Given the description of an element on the screen output the (x, y) to click on. 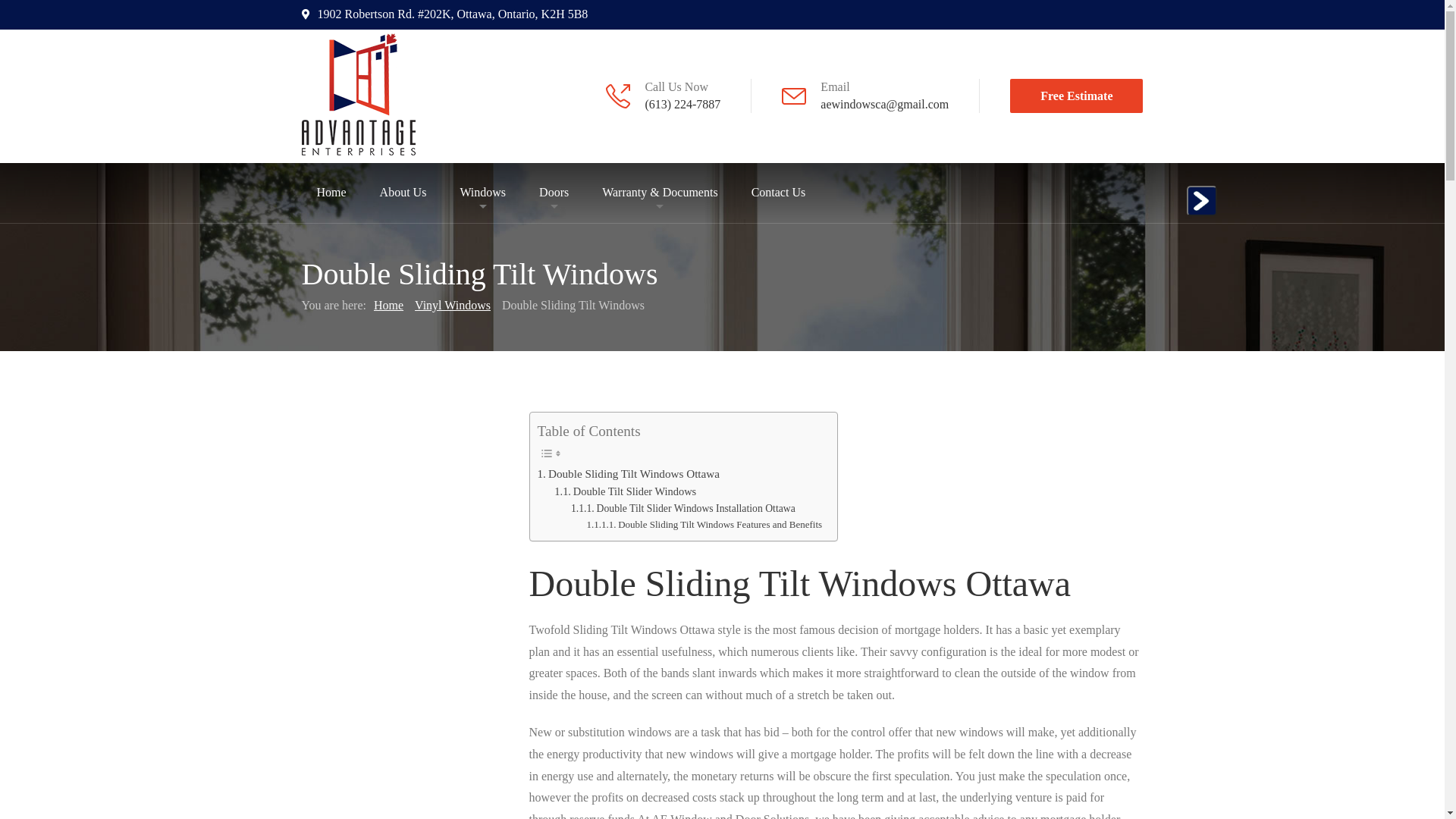
Vinyl Windows Element type: text (452, 305)
Warranty & Documents Element type: text (659, 192)
Windows Element type: text (482, 192)
Contact Us Element type: text (778, 192)
Double Sliding Tilt Windows Ottawa Element type: text (627, 473)
Free Estimate Element type: text (1076, 95)
Home Element type: text (331, 192)
Double Tilt Slider Windows Installation Ottawa Element type: text (683, 508)
Double Sliding Tilt Windows Features and Benefits Element type: text (704, 525)
Home Element type: text (388, 305)
Double Tilt Slider Windows Element type: text (625, 491)
About Us Element type: text (403, 192)
Doors Element type: text (553, 192)
